Given the description of an element on the screen output the (x, y) to click on. 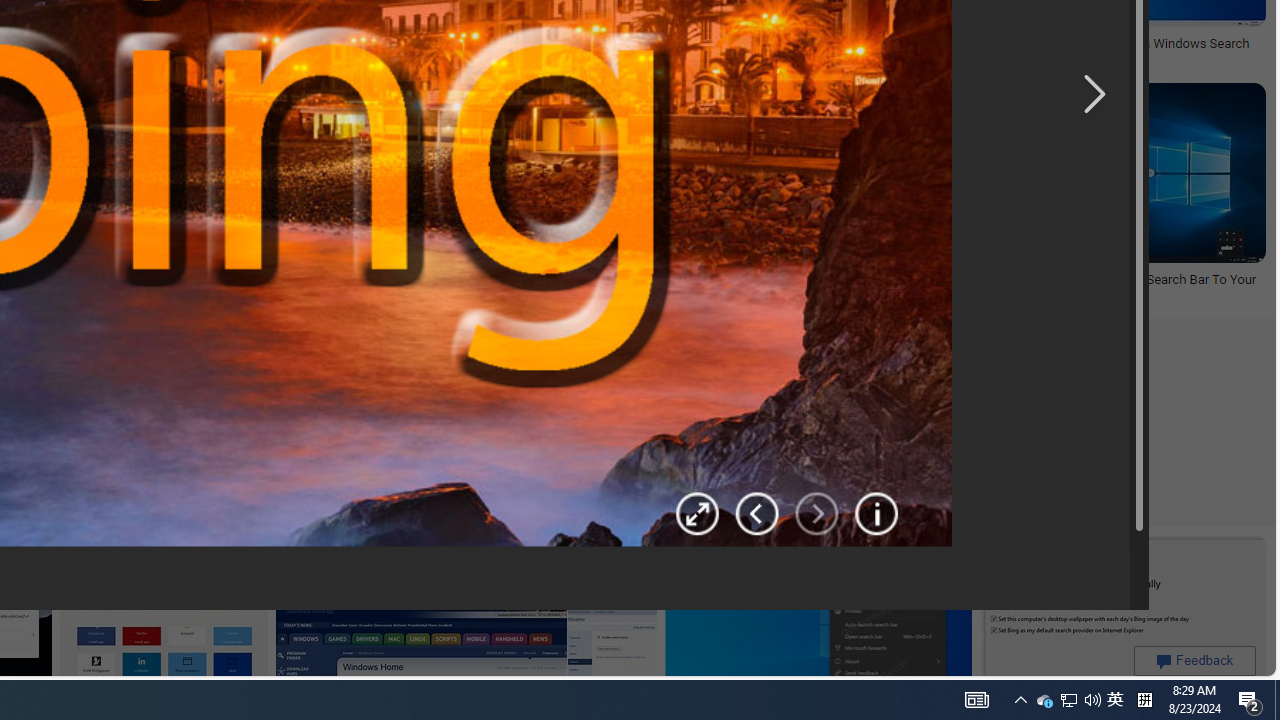
How to Use Bing Visual Search on Windows Search Bar (1106, 52)
Image result for Bing Search Bar Install (1122, 623)
2:33 (169, 101)
